Given the description of an element on the screen output the (x, y) to click on. 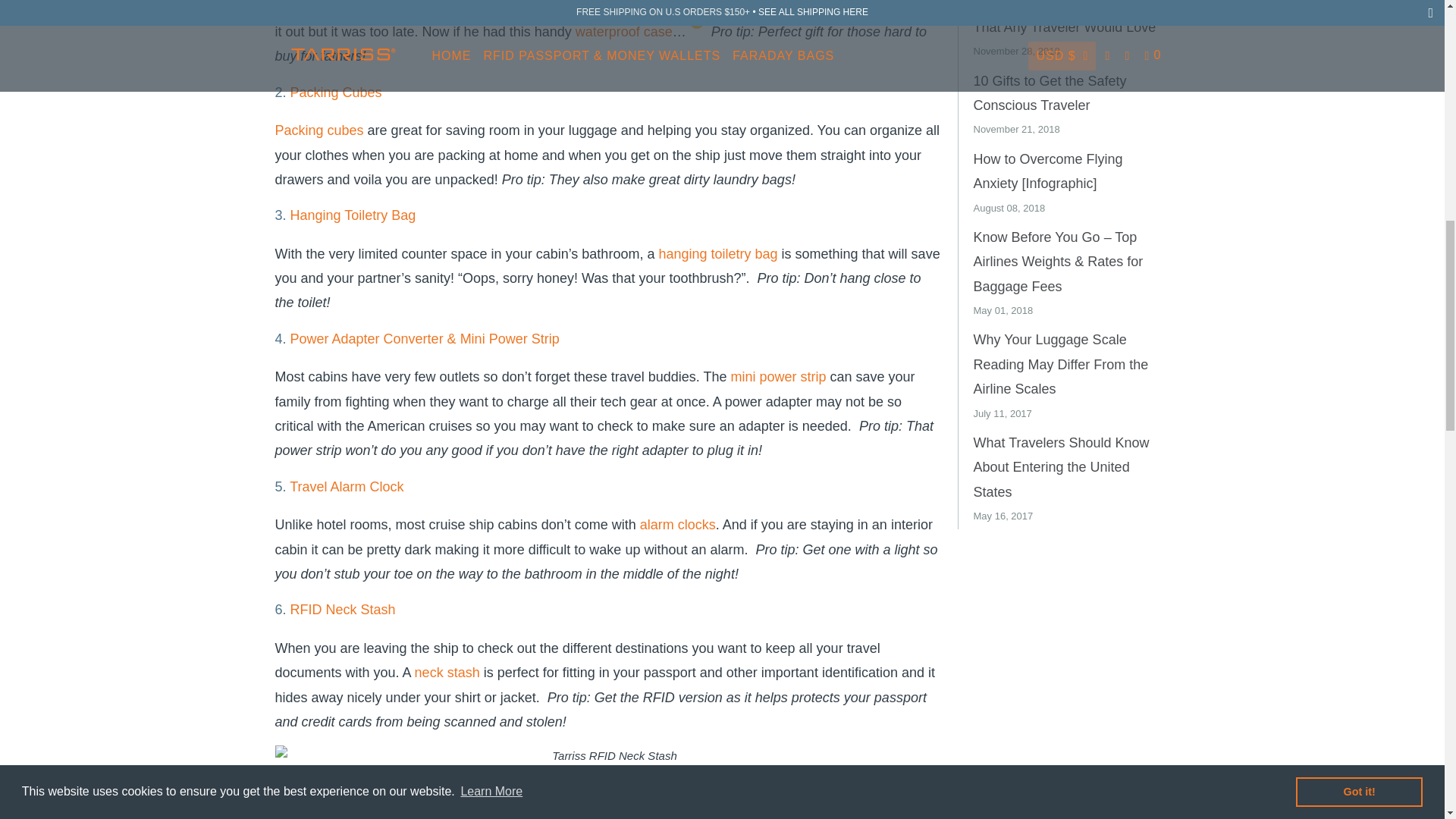
mini power strip (778, 376)
15 Awesome Stocking Stuffers That Any Traveler Would Love (1065, 17)
Hanging Toiletry Bag (352, 215)
Packing Cubes (335, 92)
hanging toiletry bag (717, 253)
Packing cubes (318, 130)
waterproof case (623, 31)
Travel Alarm Clock (346, 486)
